Given the description of an element on the screen output the (x, y) to click on. 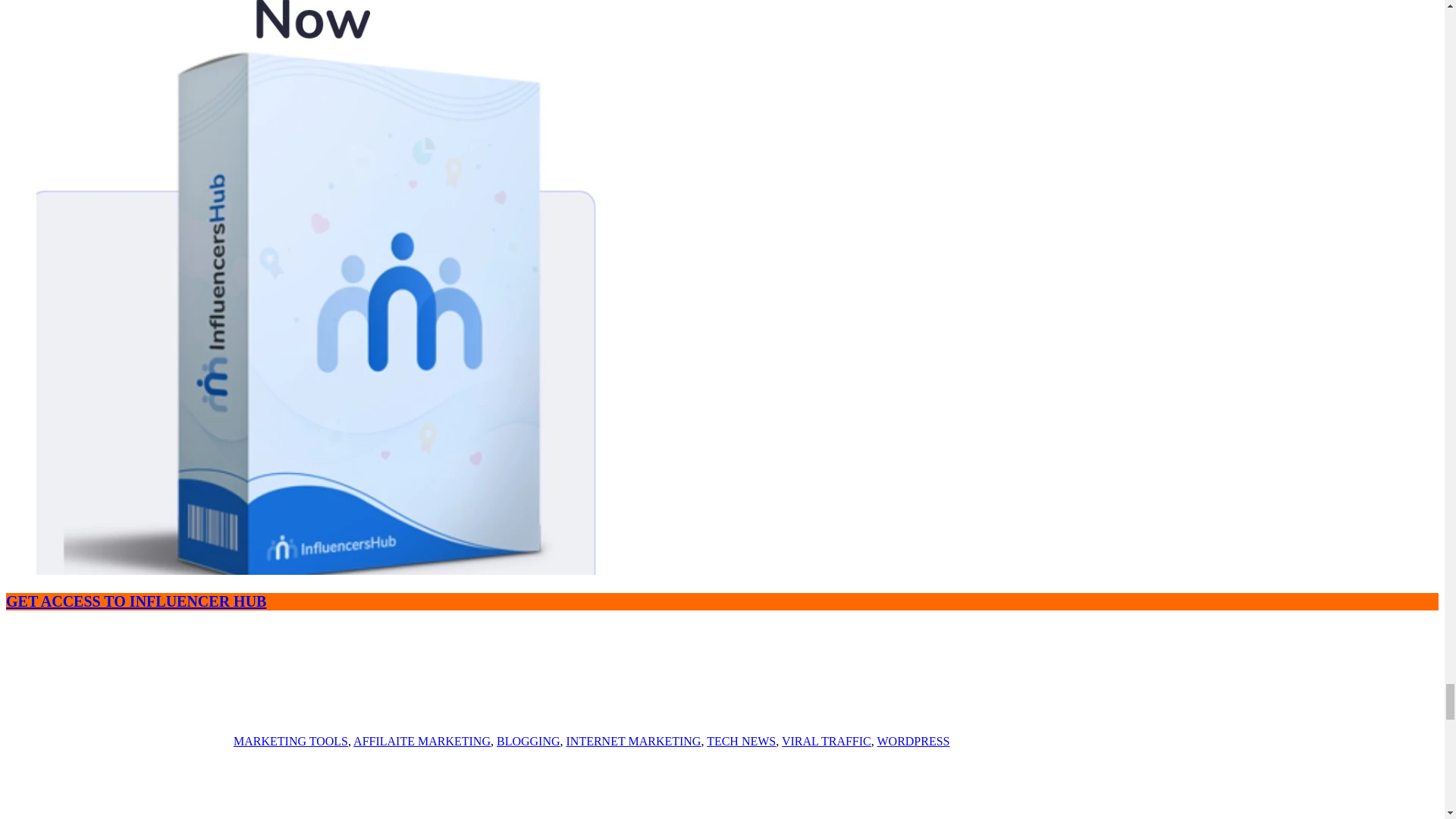
MARKETING TOOLS (289, 740)
GET ACCESS TO INFLUENCER HUB (135, 600)
